Given the description of an element on the screen output the (x, y) to click on. 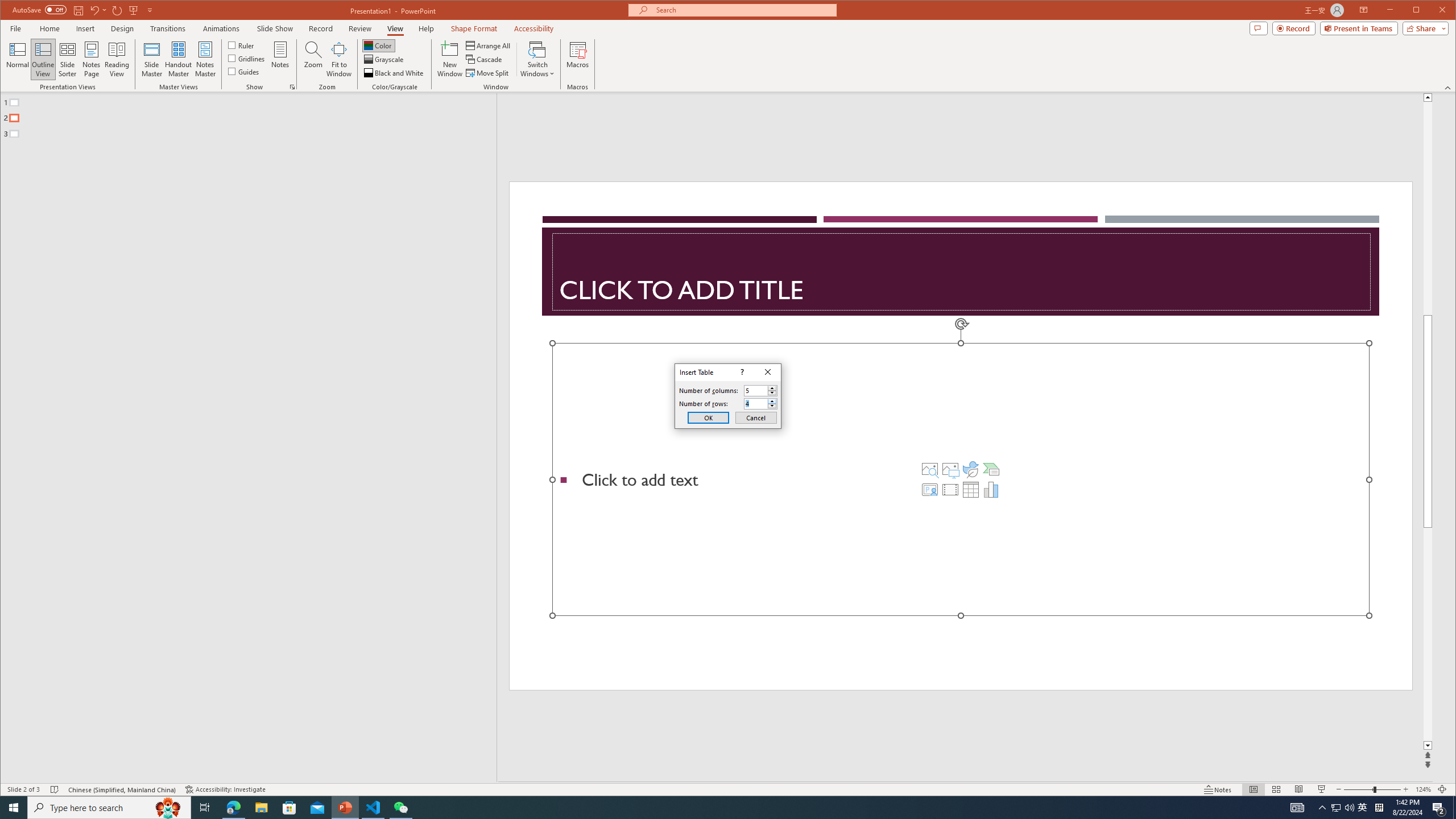
Grayscale (384, 59)
Notes Page (91, 59)
Move Split (488, 72)
Grid Settings... (292, 86)
Number of columns (755, 390)
